Given the description of an element on the screen output the (x, y) to click on. 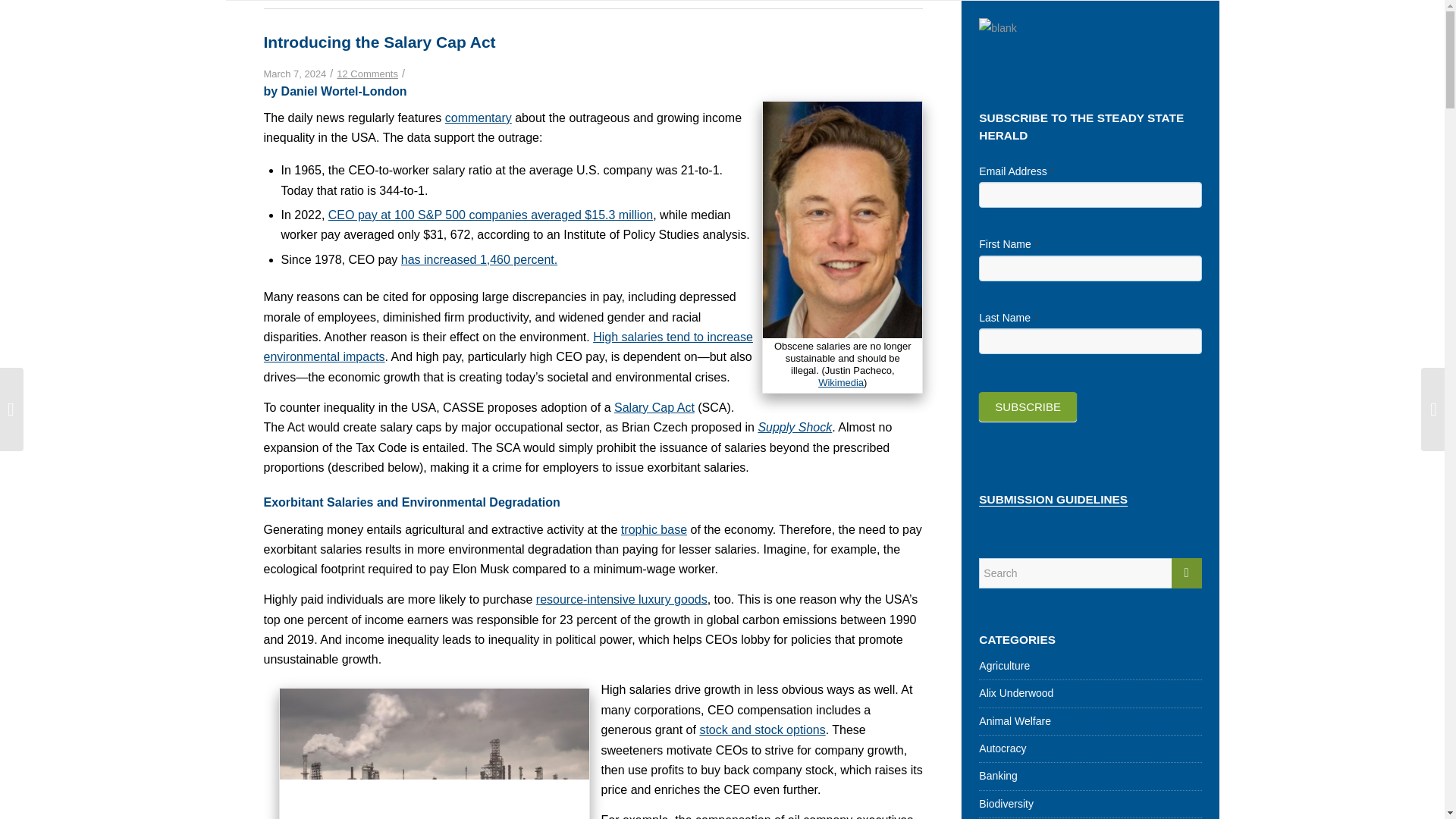
trophic base (654, 529)
resource-intensive luxury goods (621, 599)
High salaries tend to increase environmental impacts (507, 346)
Introducing the Salary Cap Act (379, 41)
Salary Cap Act (654, 407)
12 Comments (366, 73)
Permanent Link: Introducing the Salary Cap Act (379, 41)
Wikimedia (840, 382)
stock and stock options (761, 729)
Supply Shock (794, 427)
